Given the description of an element on the screen output the (x, y) to click on. 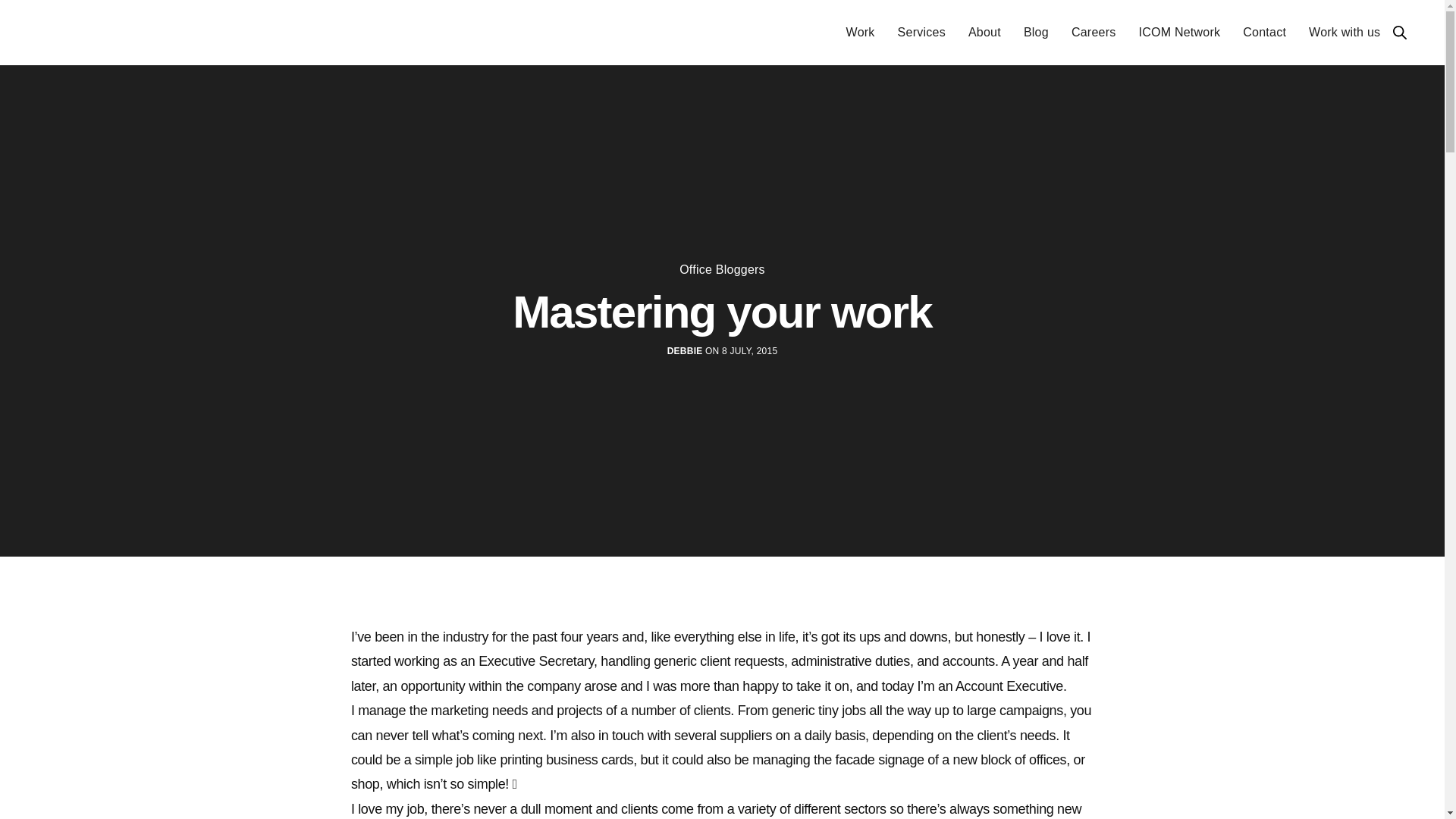
Contact (1264, 32)
ICOM Network (1179, 32)
Careers (1093, 32)
Search (1399, 32)
Work with us (1344, 32)
DEBBIE (684, 350)
Posts by Debbie (684, 350)
Office Bloggers (722, 269)
Services (921, 32)
